Given the description of an element on the screen output the (x, y) to click on. 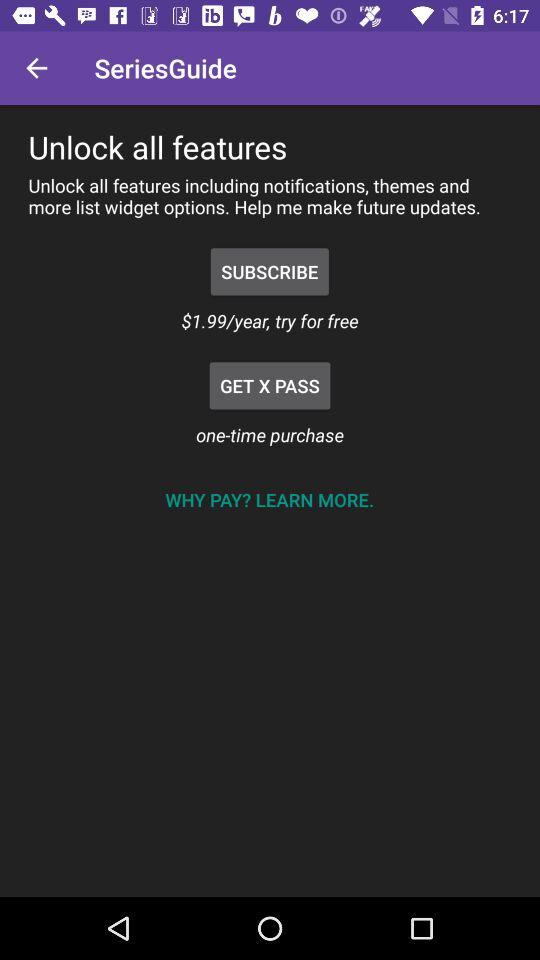
scroll to the get x pass item (269, 385)
